Given the description of an element on the screen output the (x, y) to click on. 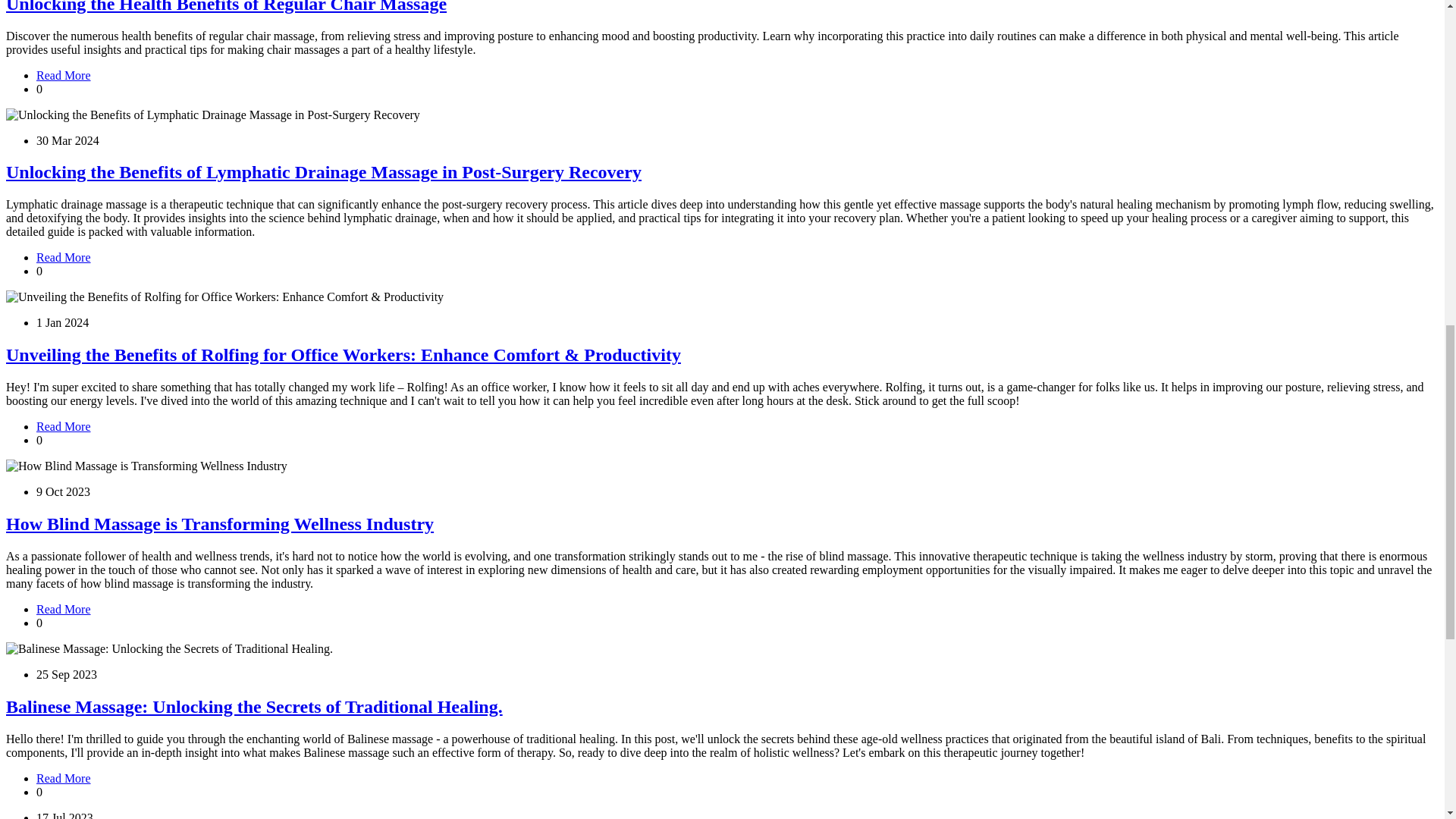
Read More (63, 74)
Unlocking the Health Benefits of Regular Chair Massage (225, 6)
Read More (63, 426)
Read More (63, 608)
Unlocking the Health Benefits of Regular Chair Massage (63, 74)
Read More (63, 256)
How Blind Massage is Transforming Wellness Industry (219, 523)
